Given the description of an element on the screen output the (x, y) to click on. 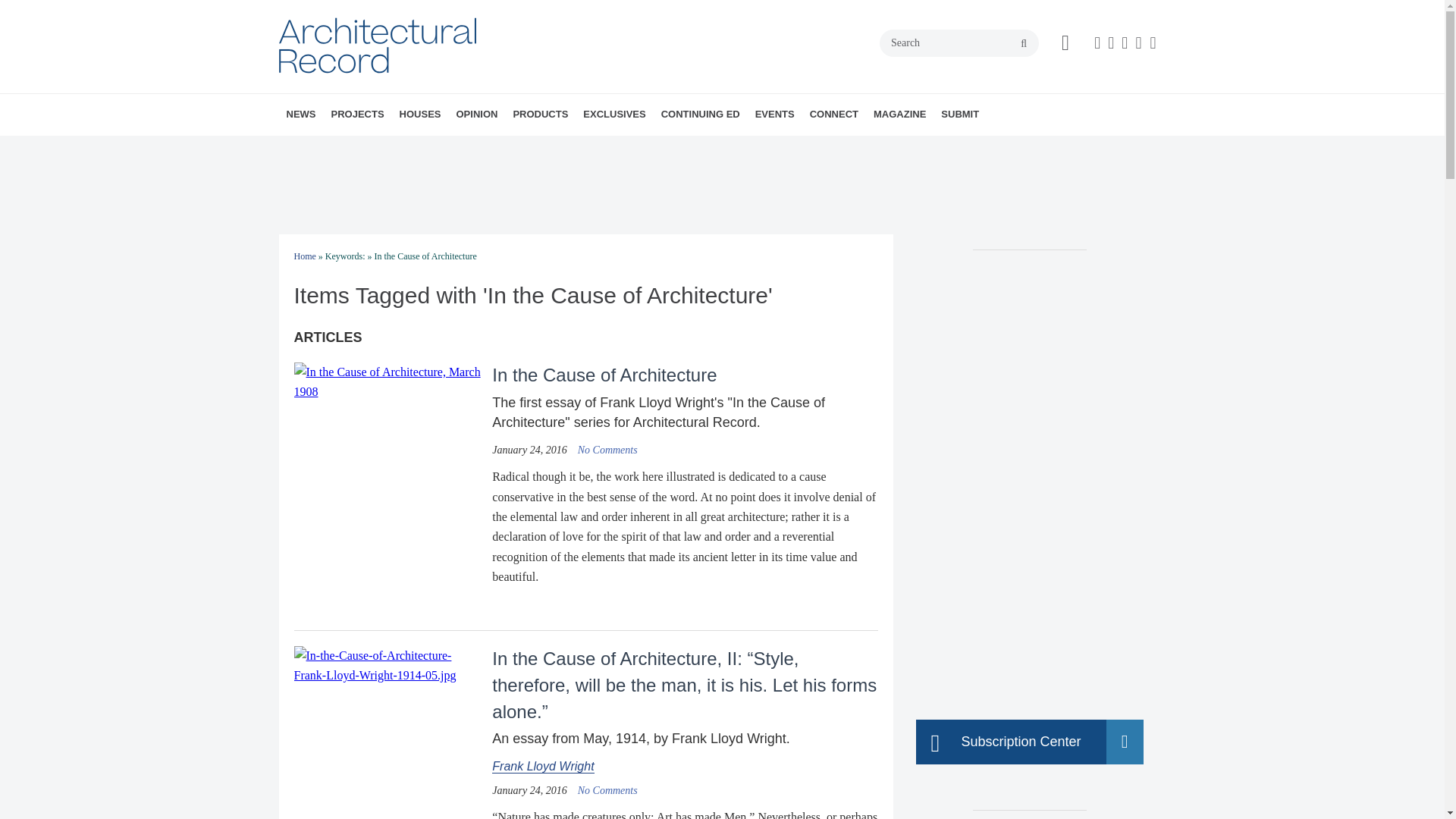
OPINION (476, 114)
In the Cause of Architecture, March 1908 (387, 382)
LATEST NEWS (373, 147)
OBITUARIES (391, 147)
Search (959, 42)
PODCASTS (397, 147)
Search (959, 42)
HOUSES (419, 114)
NEWS (301, 114)
AWARDS (380, 147)
RECORD HOUSES (485, 147)
EXHIBITION REVIEWS (550, 147)
In the Cause of Architecture (607, 449)
HOUSE OF THE MONTH (493, 147)
MULTIFAMILY HOUSING (442, 147)
